Given the description of an element on the screen output the (x, y) to click on. 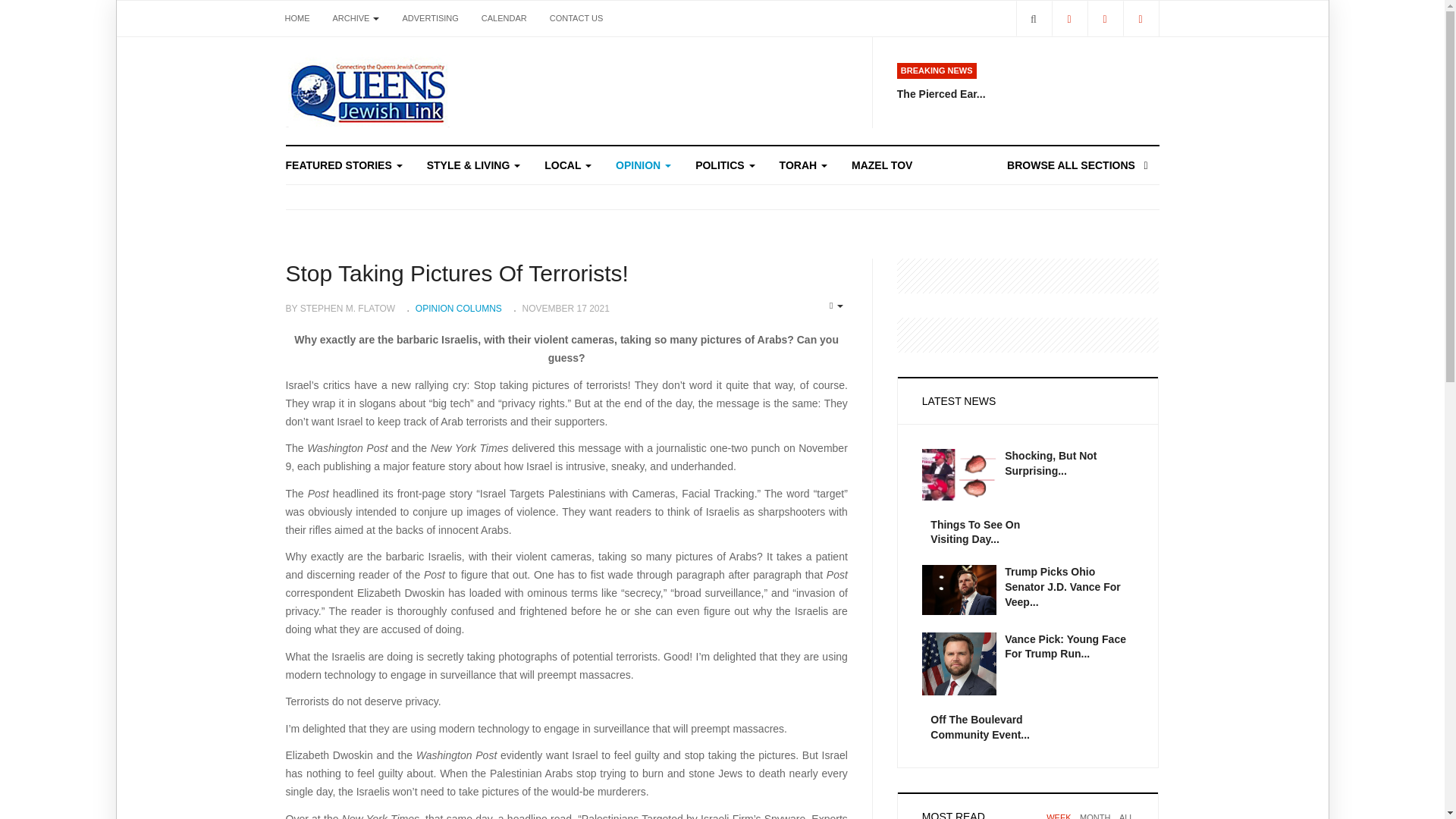
Stop Taking Pictures Of Terrorists! (456, 273)
Facebook (1068, 18)
Twitter (1104, 18)
Queens Jewish Link (366, 90)
HOME (296, 18)
ARCHIVE (356, 18)
Week (1058, 816)
ADVERTISING (429, 18)
Instagram (1139, 18)
All (1126, 816)
Month (1094, 816)
